Given the description of an element on the screen output the (x, y) to click on. 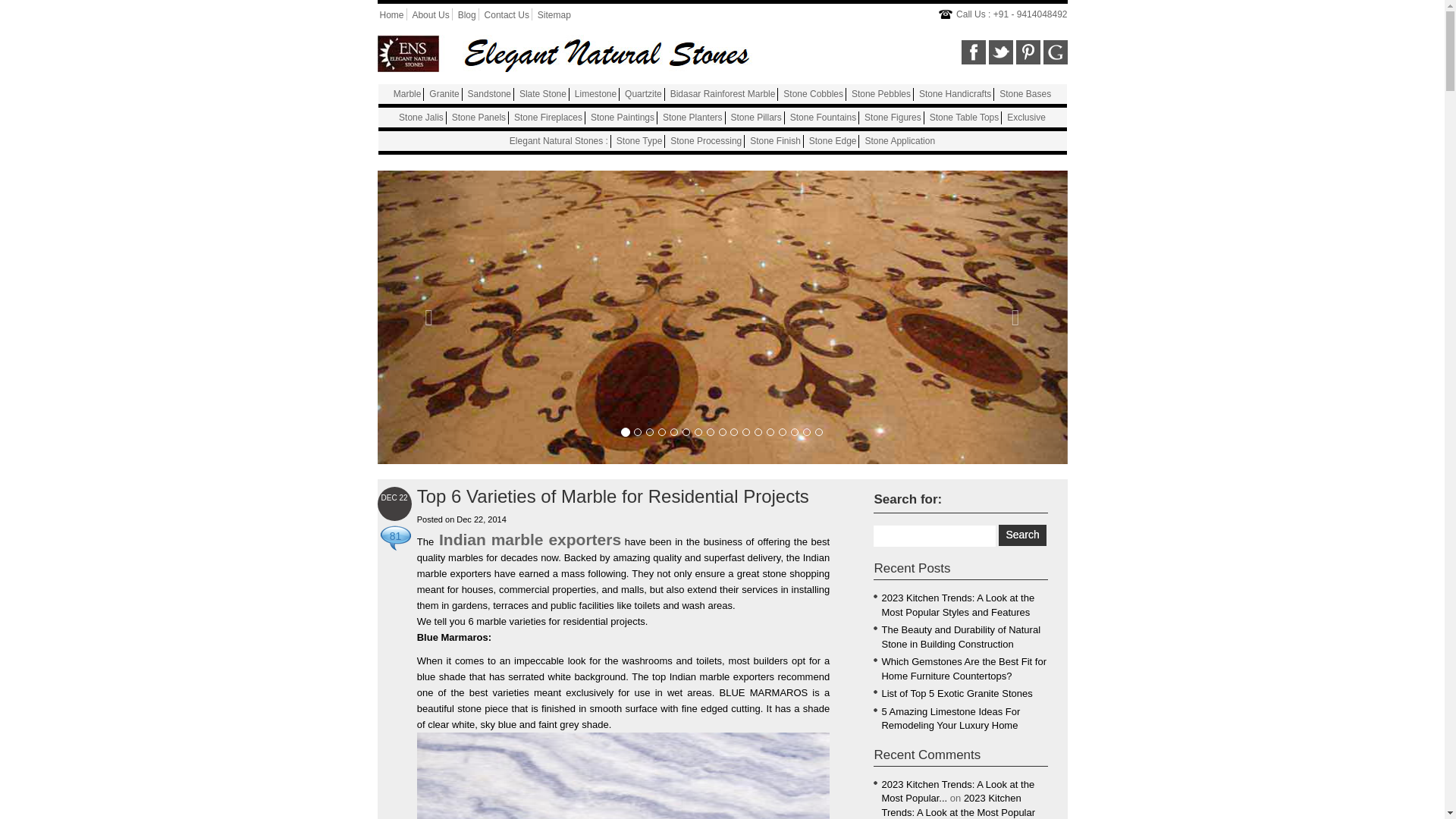
Stone Processing (705, 140)
Stone Cobbles (813, 93)
Stone Finish (774, 140)
Search (1021, 535)
Slate Stone (542, 93)
Marble (407, 93)
Bidasar Rainforest Marble (722, 93)
Stone Planters (692, 117)
About Us (430, 14)
Stone Type (638, 140)
Limestone (595, 93)
Stone Fireplaces (547, 117)
Stone Table Tops (964, 117)
Stone Pillars (755, 117)
Contact Us (506, 14)
